Given the description of an element on the screen output the (x, y) to click on. 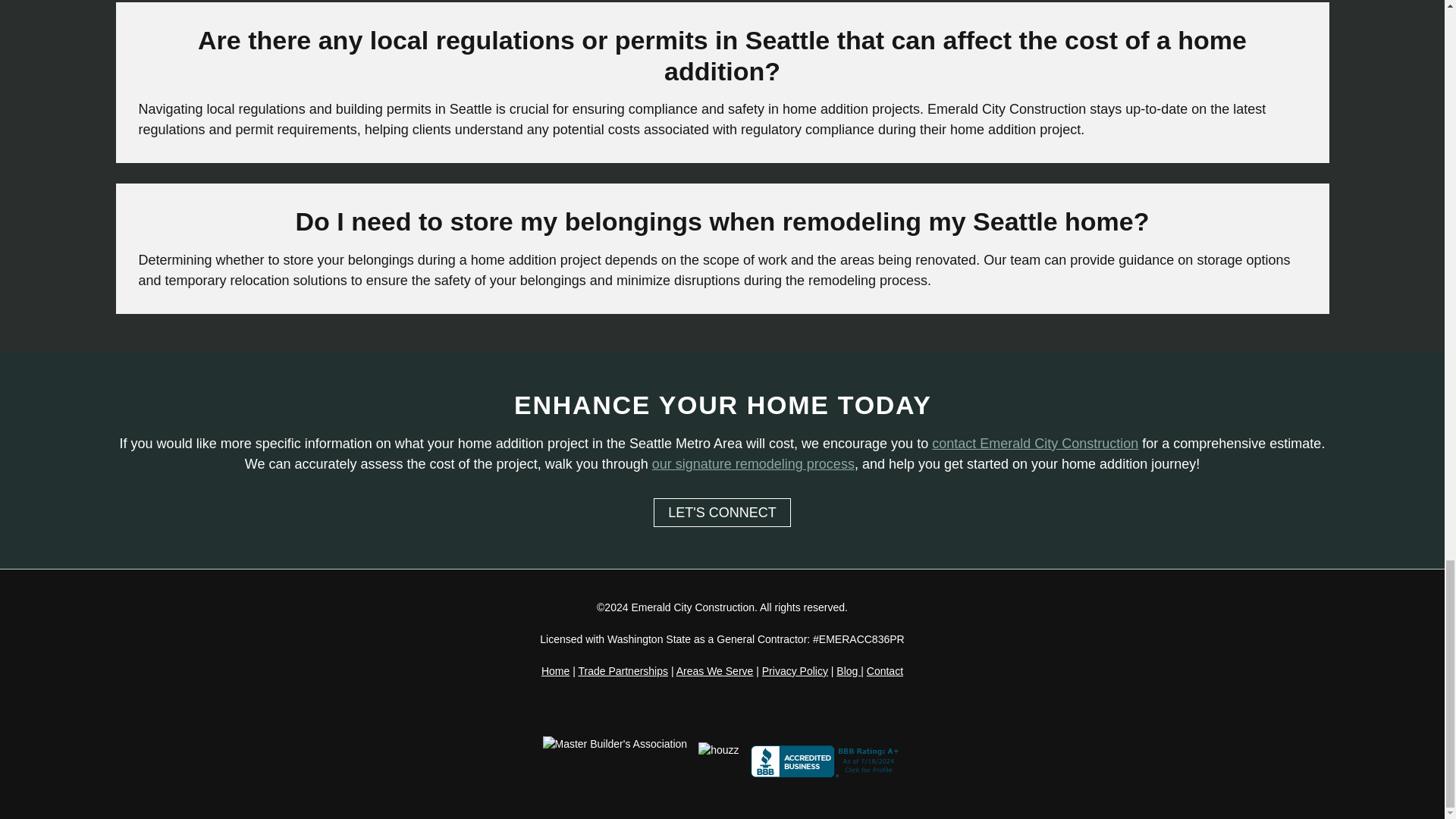
LET'S CONNECT (721, 512)
Home (555, 671)
Privacy Policy (794, 671)
our signature remodeling process (753, 463)
Areas We Serve (715, 671)
Blog (847, 671)
Trade Partnerships (623, 671)
Contact (884, 671)
contact Emerald City Construction (1034, 443)
